Given the description of an element on the screen output the (x, y) to click on. 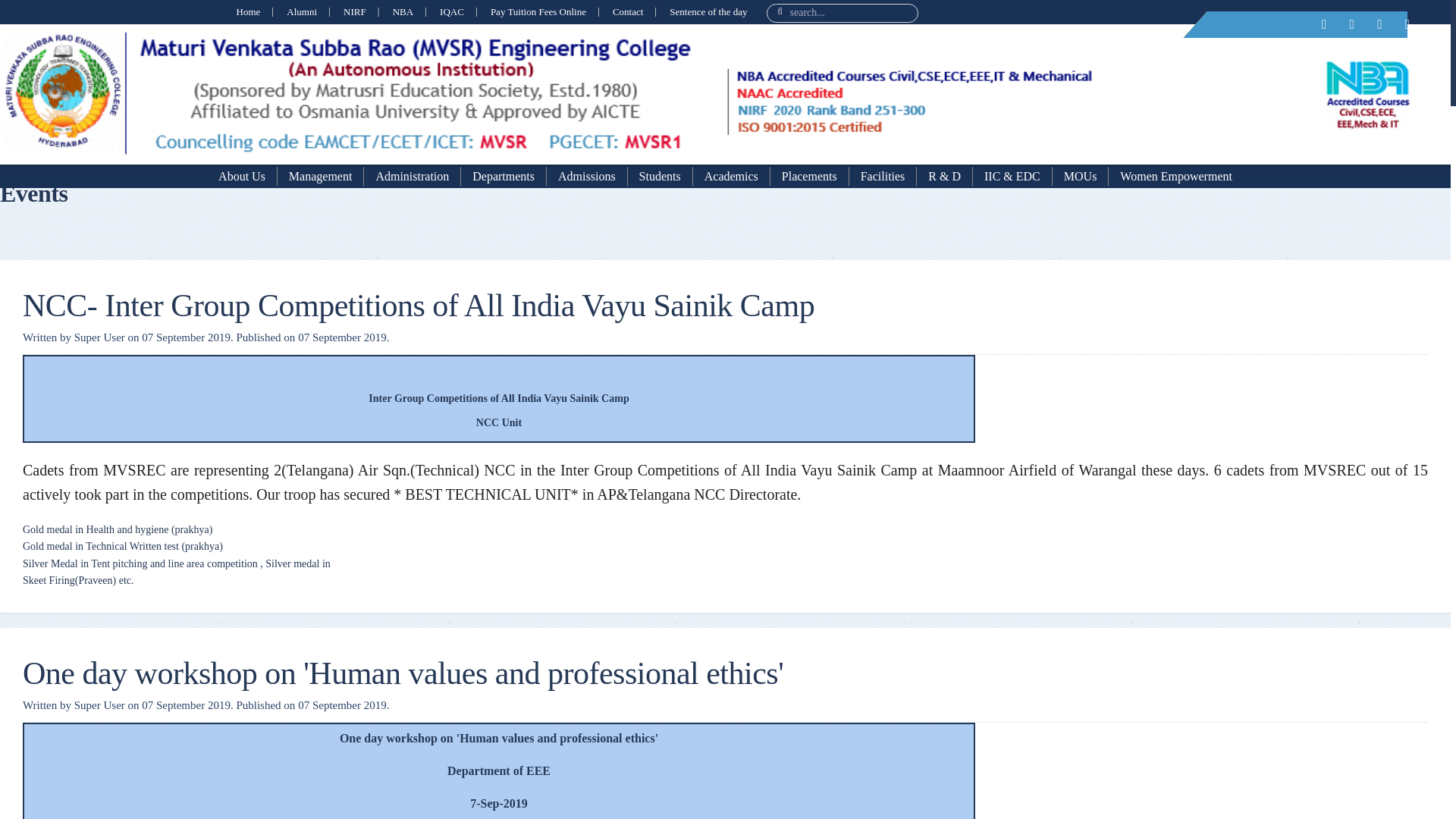
Home (247, 12)
One day workshop on 'Human values and professional ethics'  (403, 673)
Sentence of the day (707, 12)
About Us (242, 173)
Pay Tuition Fees Online (538, 12)
IQAC (451, 12)
NIRF (354, 12)
Administration (412, 173)
Management (321, 173)
Alumni (301, 12)
NCC- Inter Group Competitions of All India Vayu Sainik Camp (418, 305)
Contact (627, 12)
